Given the description of an element on the screen output the (x, y) to click on. 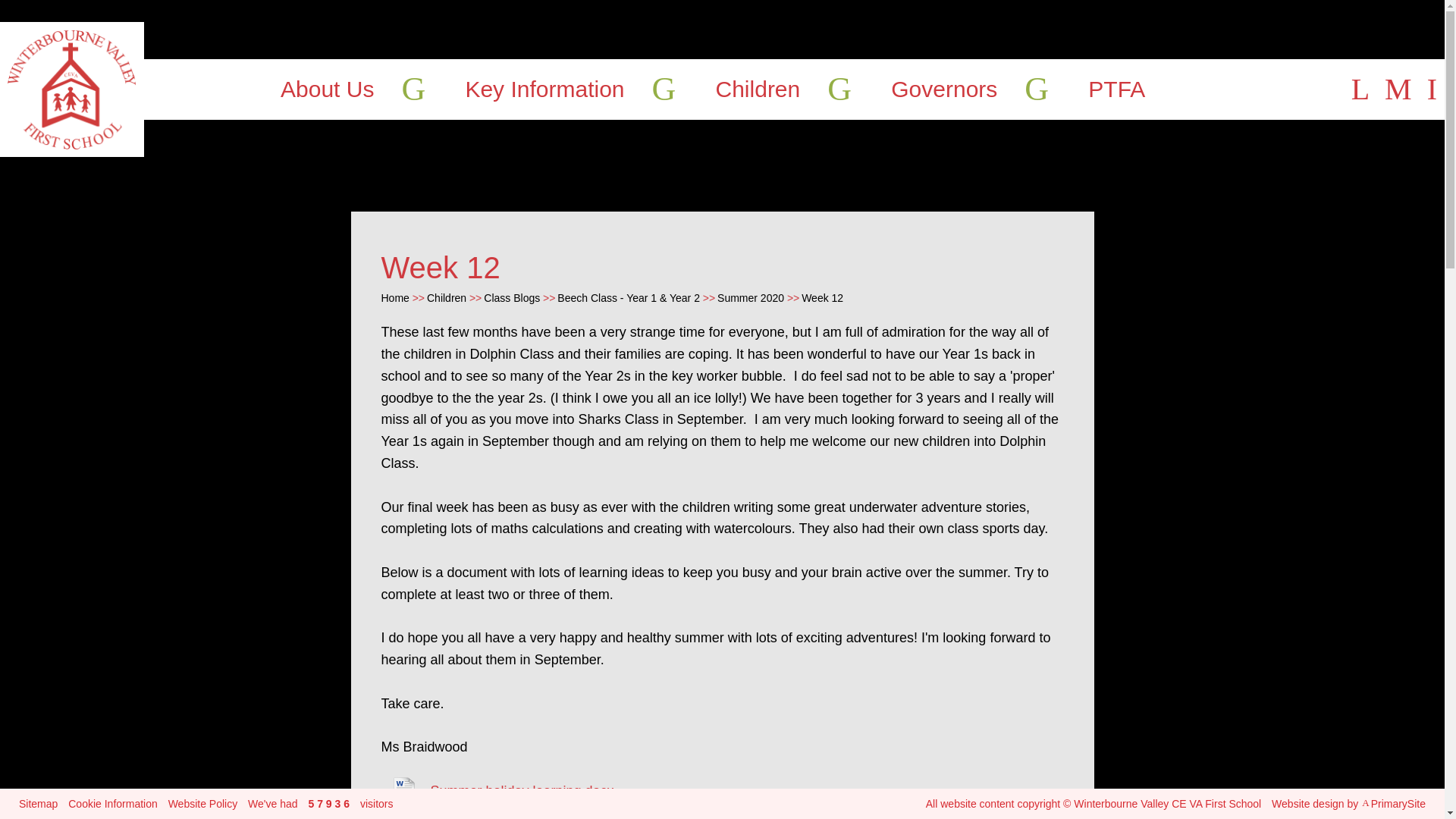
Children (758, 88)
Key Information (544, 88)
About Us (327, 88)
Home Page (72, 89)
